Given the description of an element on the screen output the (x, y) to click on. 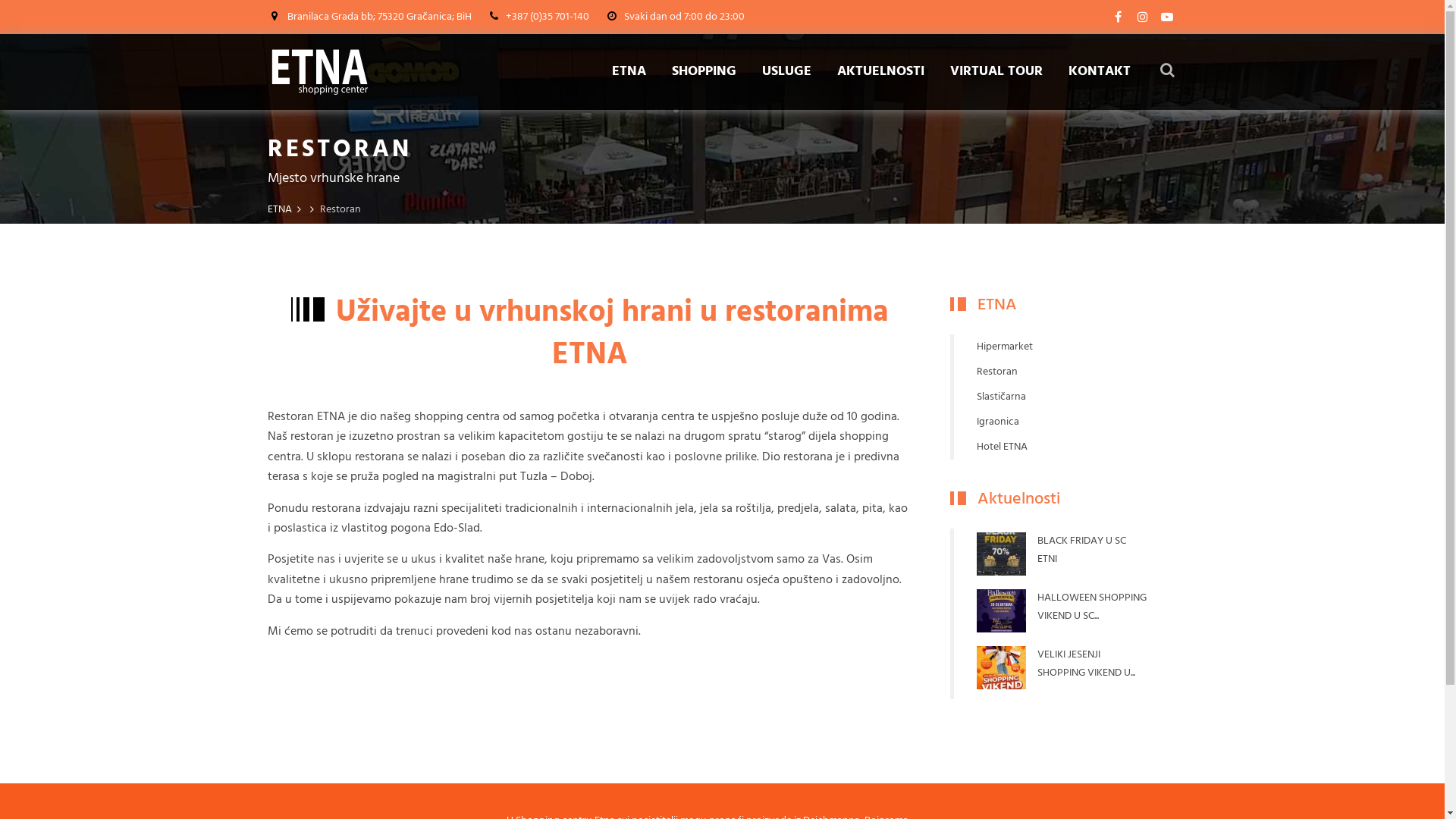
AKTUELNOSTI Element type: text (880, 71)
VIRTUAL TOUR Element type: text (995, 71)
BLACK FRIDAY U SC ETNI Element type: text (1092, 549)
HALLOWEEN SHOPPING VIKEND U SC... Element type: text (1092, 606)
Restoran Element type: text (1047, 371)
VELIKI JESENJI SHOPPING VIKEND U... Element type: text (1092, 663)
USLUGE Element type: text (785, 71)
ETNA Element type: text (278, 209)
Hotel ETNA Element type: text (1047, 446)
SHOPPING Element type: text (703, 71)
Hipermarket Element type: text (1047, 346)
Igraonica Element type: text (1047, 421)
ETNA Element type: text (628, 71)
KONTAKT Element type: text (1098, 71)
